Given the description of an element on the screen output the (x, y) to click on. 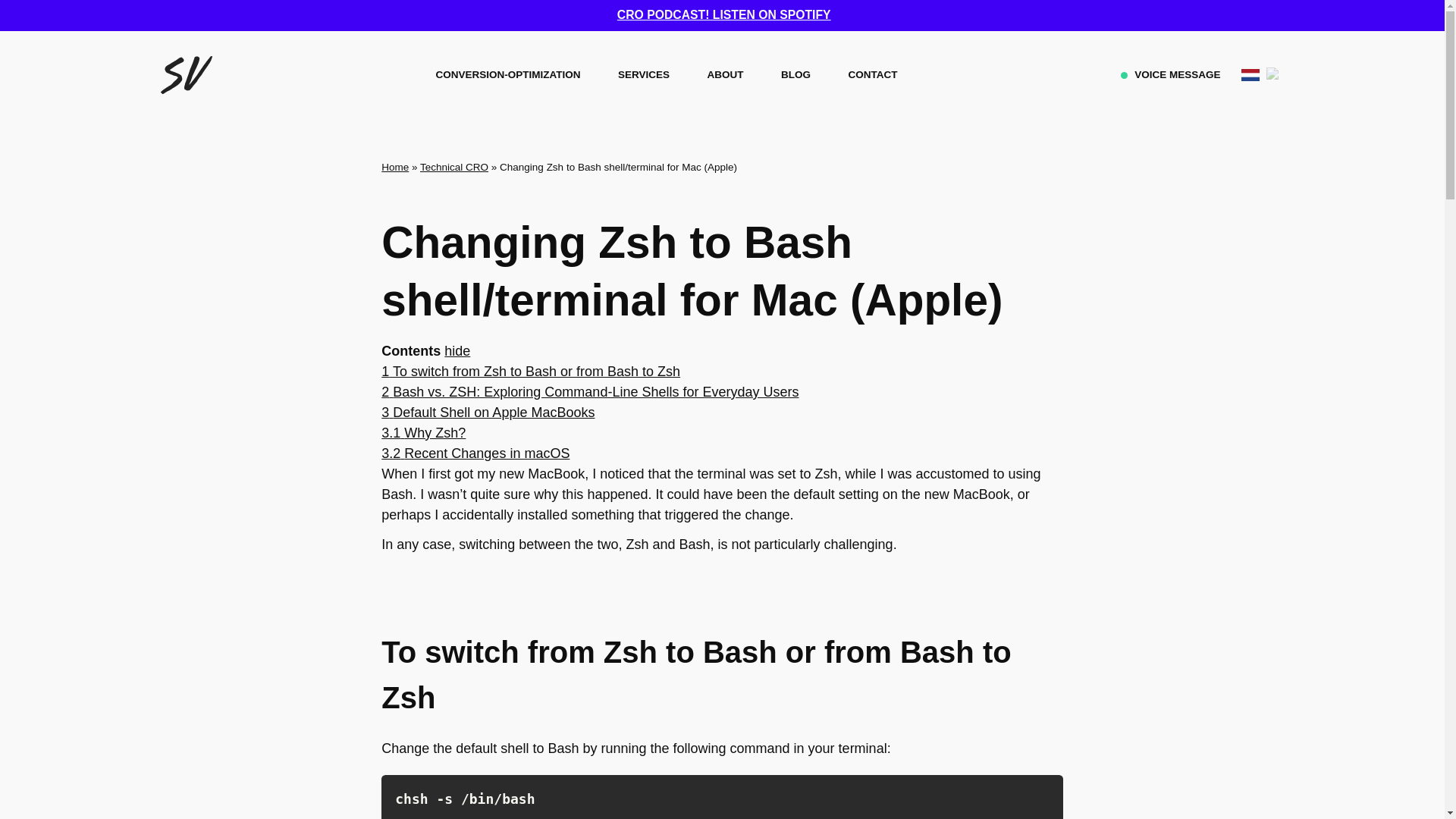
BLOG (795, 74)
3.1 Why Zsh? (423, 432)
3 Default Shell on Apple MacBooks (487, 412)
Home (395, 165)
Technical CRO (453, 165)
SERVICES (643, 74)
CRO PODCAST! LISTEN ON SPOTIFY (724, 15)
Zsh to bash (721, 796)
ABOUT (725, 74)
